Given the description of an element on the screen output the (x, y) to click on. 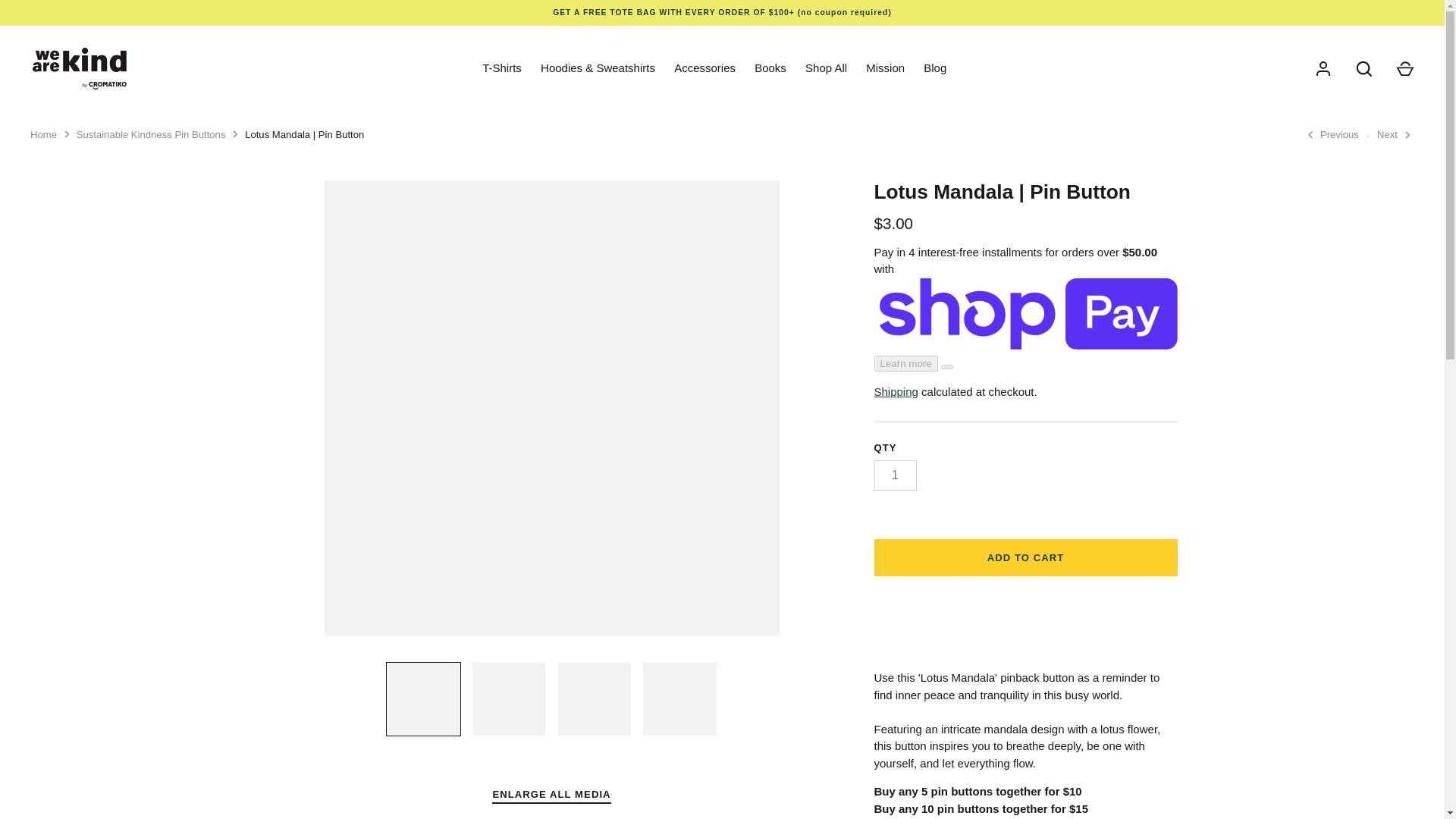
Left (1310, 134)
1 (894, 475)
Mission (885, 67)
Shop All (826, 67)
Right (1407, 134)
Accessories (705, 67)
Lotus Mandala Pin Button - Cromatiko (509, 699)
T-Shirts (501, 67)
Blog (935, 67)
Books (770, 67)
